Given the description of an element on the screen output the (x, y) to click on. 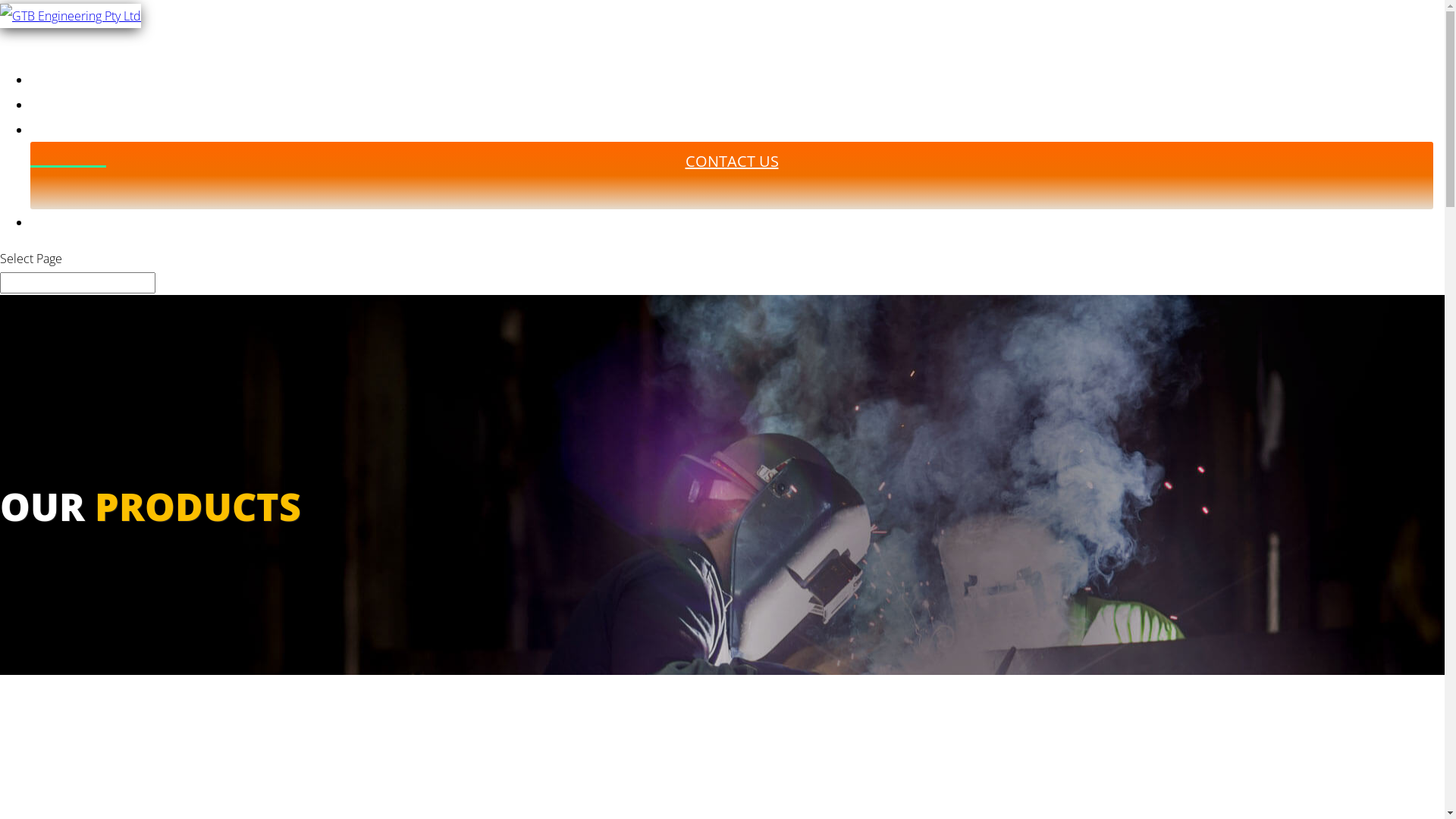
SERVICES Element type: text (62, 116)
Search for: Element type: hover (77, 282)
PRODUCTS Element type: text (68, 142)
HOME Element type: text (51, 91)
CONTACT US Element type: text (731, 173)
ABOUT Element type: text (67, 233)
